Given the description of an element on the screen output the (x, y) to click on. 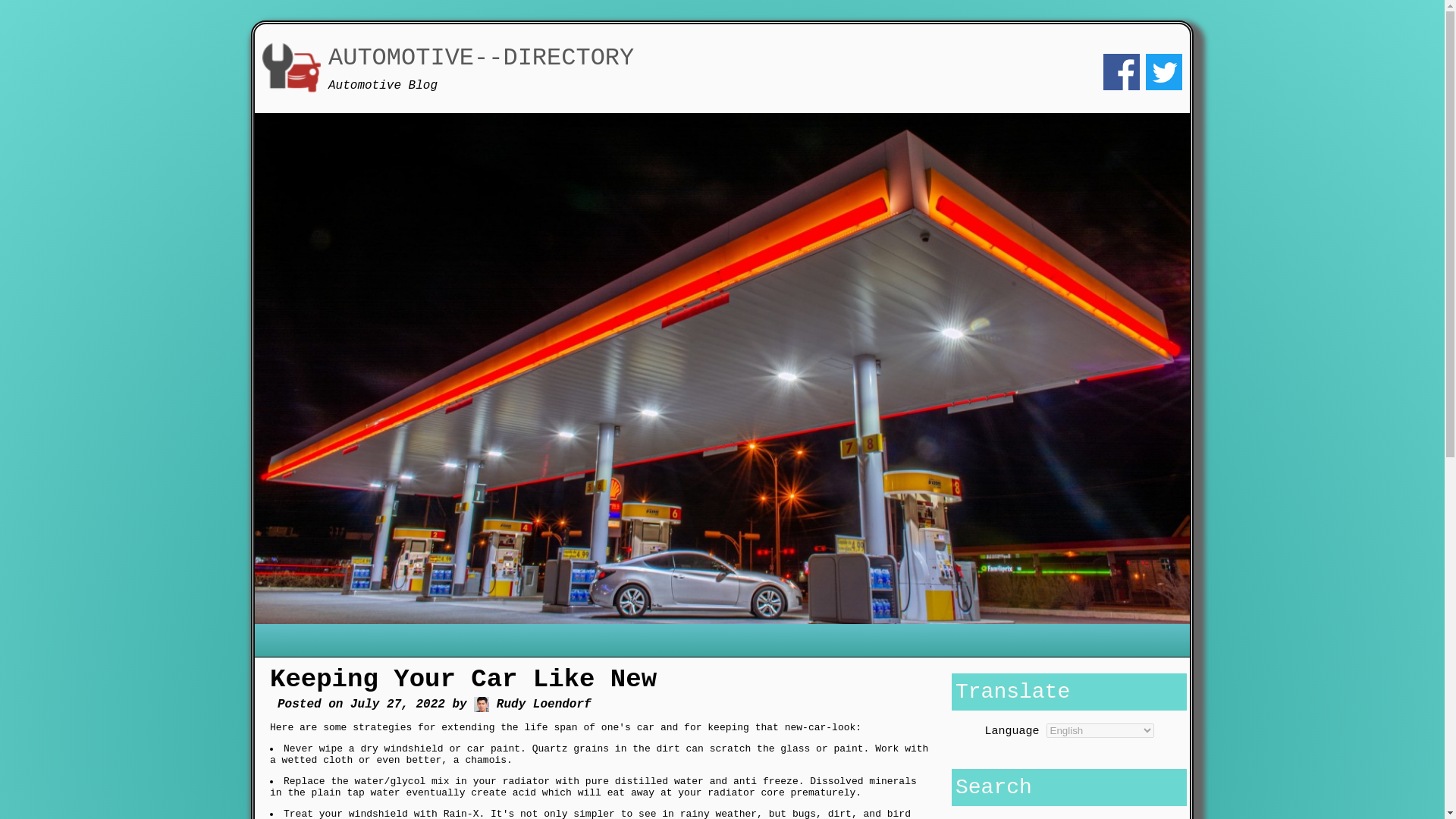
AUTOMOTIVE--DIRECTORY (481, 58)
Rudy Loendorf (481, 703)
